Given the description of an element on the screen output the (x, y) to click on. 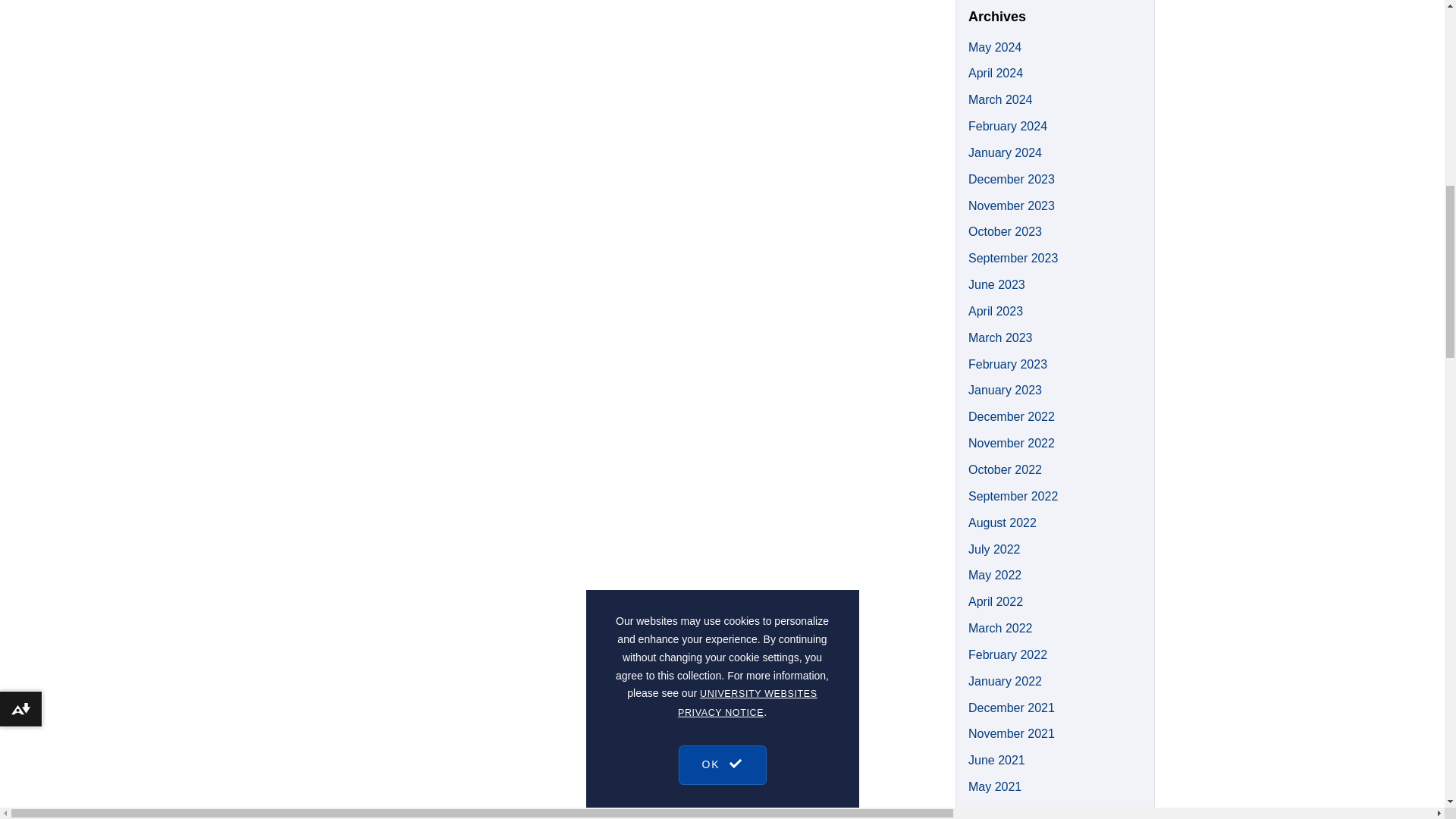
OK (721, 121)
UNIVERSITY WEBSITES PRIVACY NOTICE (747, 76)
